Given the description of an element on the screen output the (x, y) to click on. 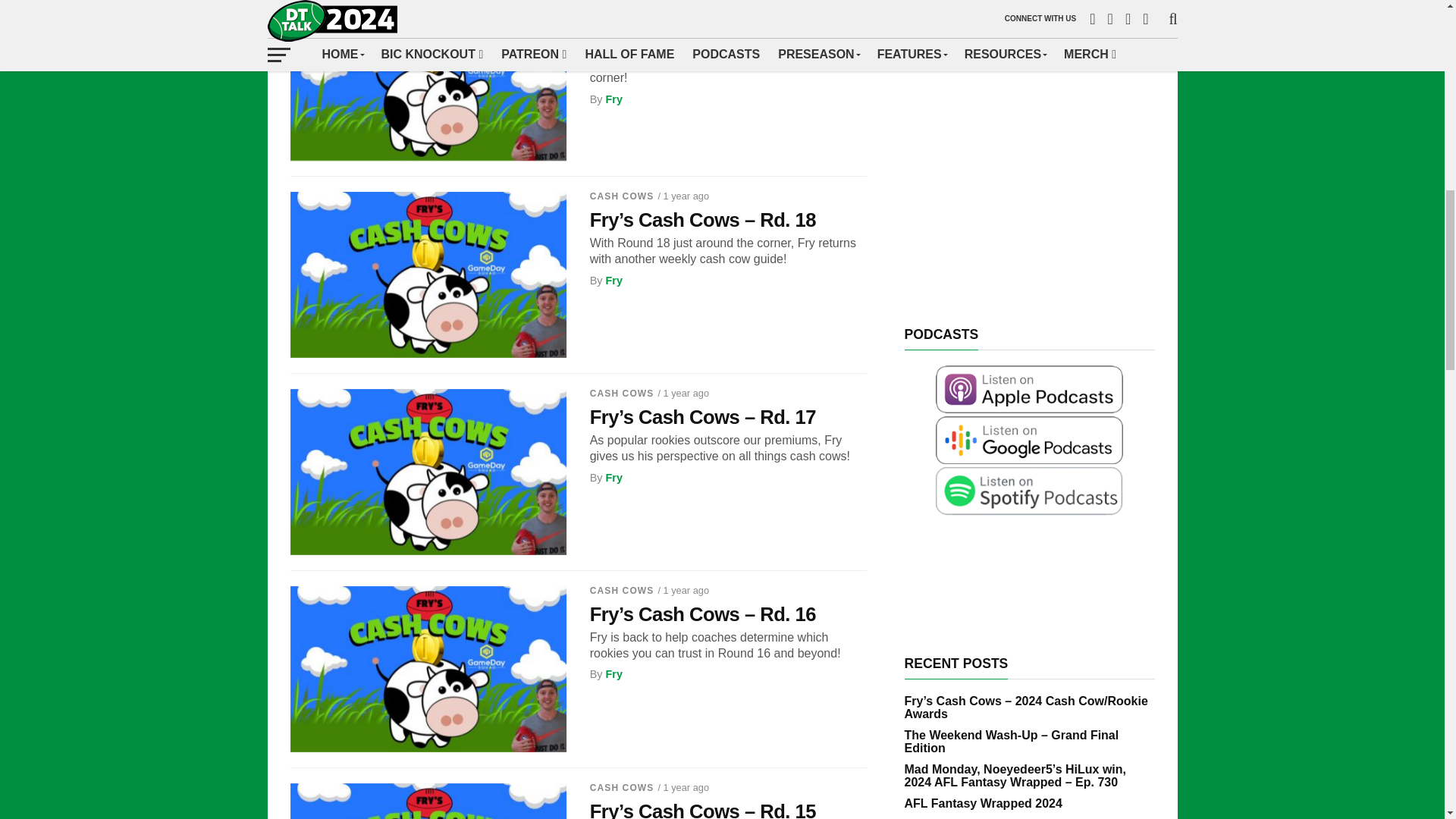
Posts by Fry (613, 99)
Posts by Fry (613, 674)
Posts by Fry (613, 280)
Posts by Fry (613, 477)
